Given the description of an element on the screen output the (x, y) to click on. 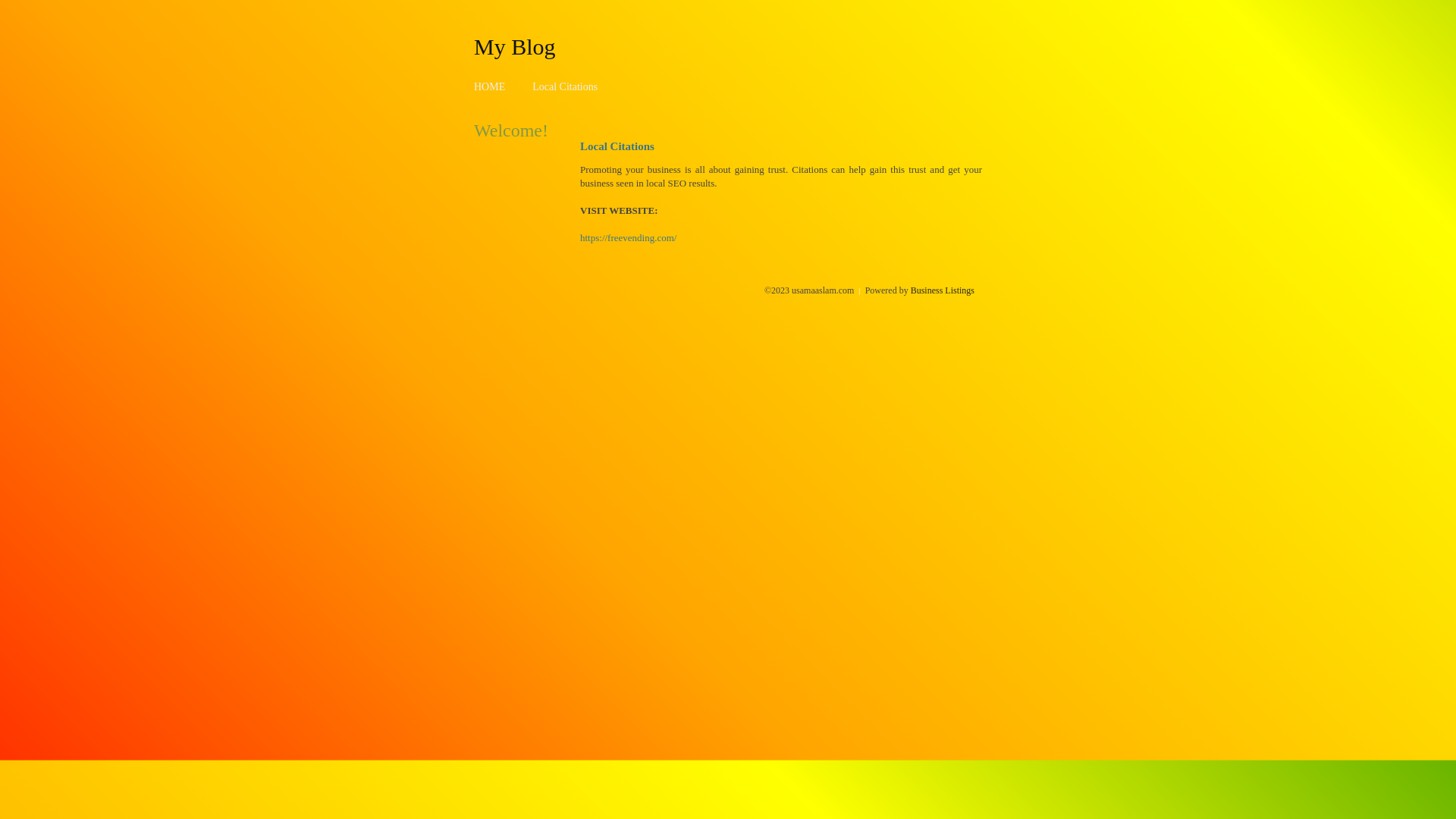
Business Listings Element type: text (942, 290)
https://freevending.com/ Element type: text (628, 237)
Local Citations Element type: text (564, 86)
HOME Element type: text (489, 86)
My Blog Element type: text (514, 46)
